Given the description of an element on the screen output the (x, y) to click on. 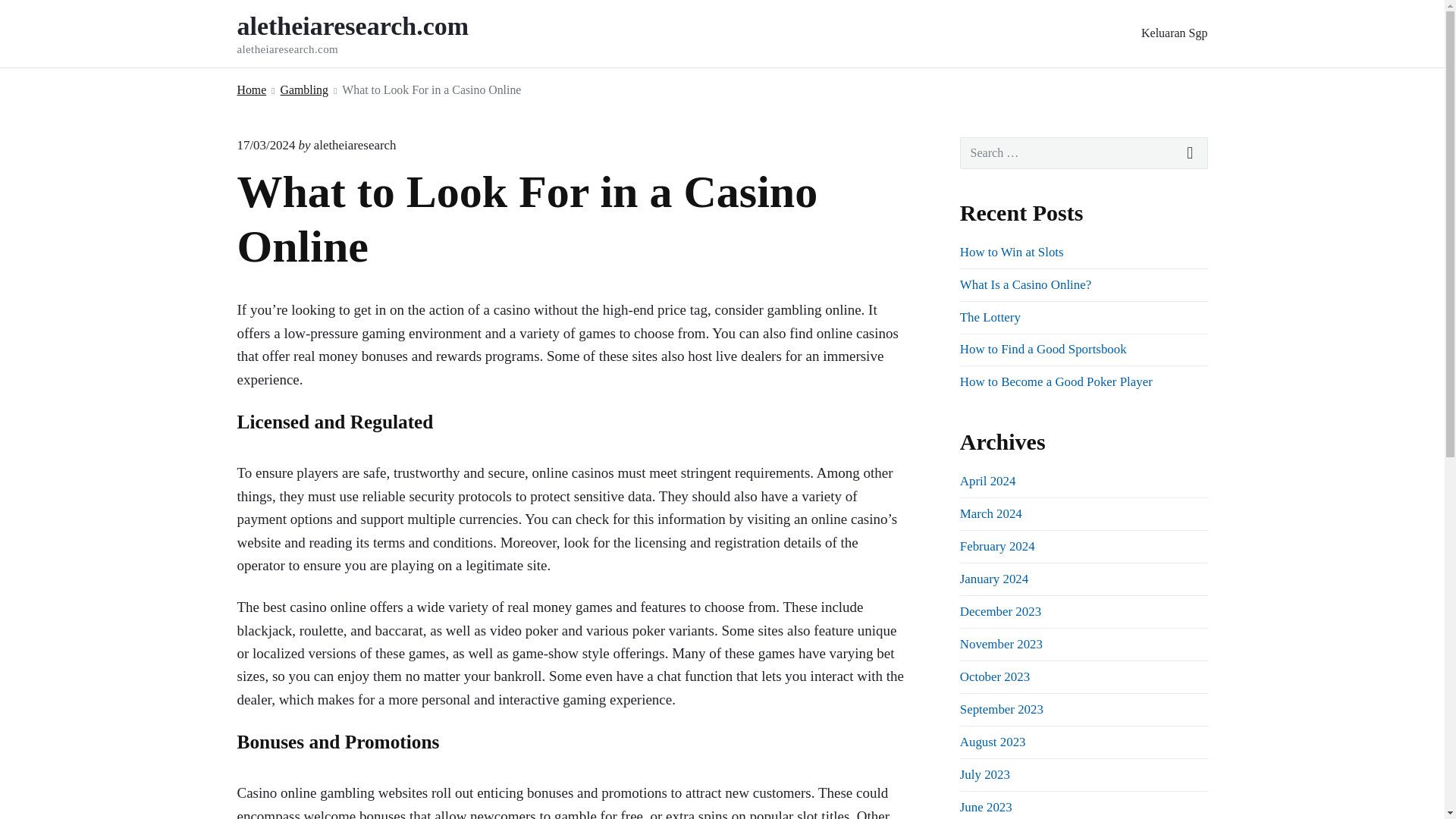
How to Win at Slots (1011, 251)
June 2023 (985, 807)
Posts by aletheiaresearch (355, 145)
August 2023 (992, 741)
Search for: (1083, 152)
How to Become a Good Poker Player (1056, 381)
November 2023 (1000, 644)
December 2023 (373, 33)
The Lottery (1000, 611)
